Given the description of an element on the screen output the (x, y) to click on. 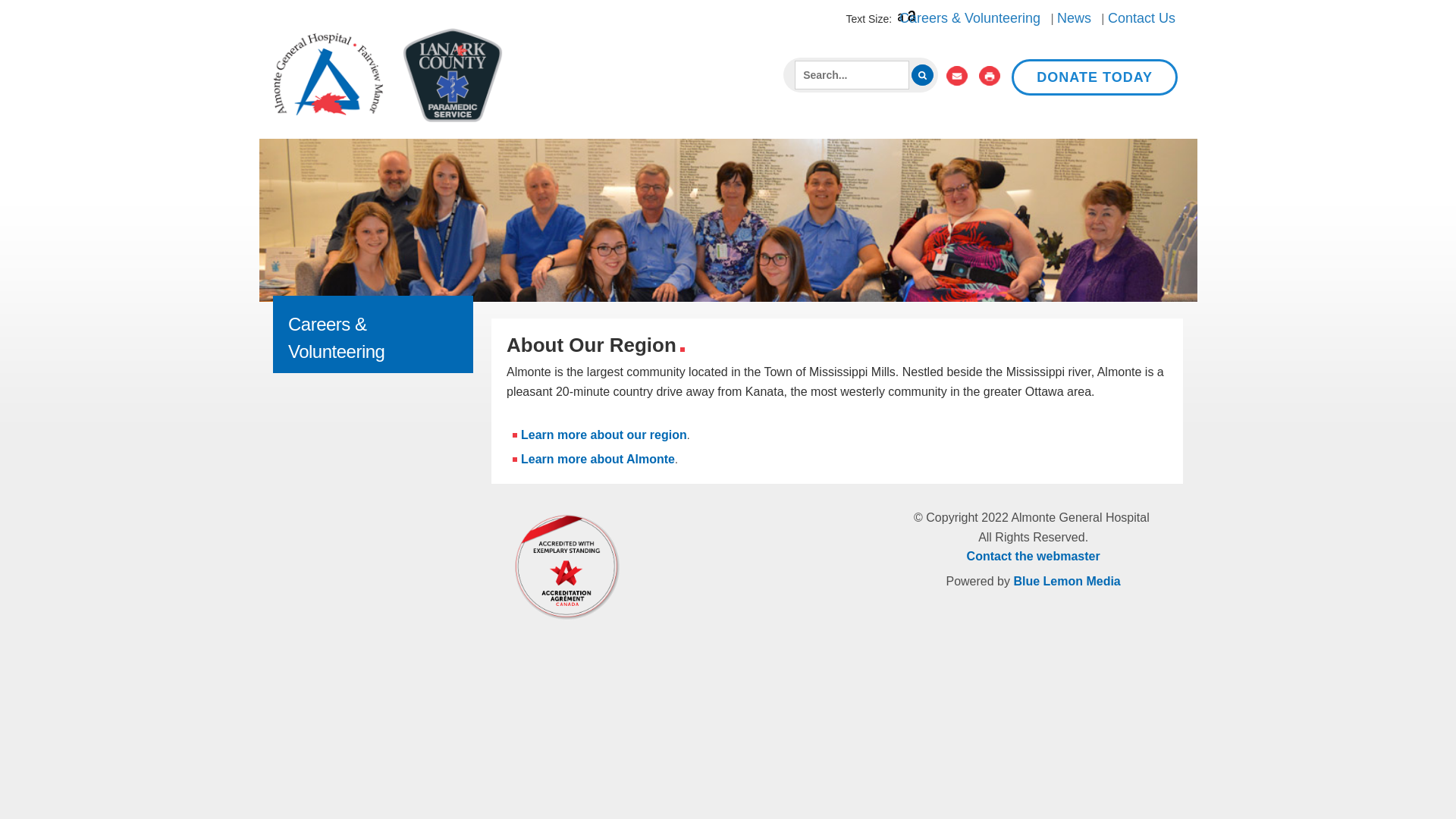
Increase Text Size (911, 18)
Search... (851, 74)
Decrease Text Size (900, 18)
Contact Us (1141, 17)
News (1073, 17)
DONATE TODAY (1094, 76)
